Given the description of an element on the screen output the (x, y) to click on. 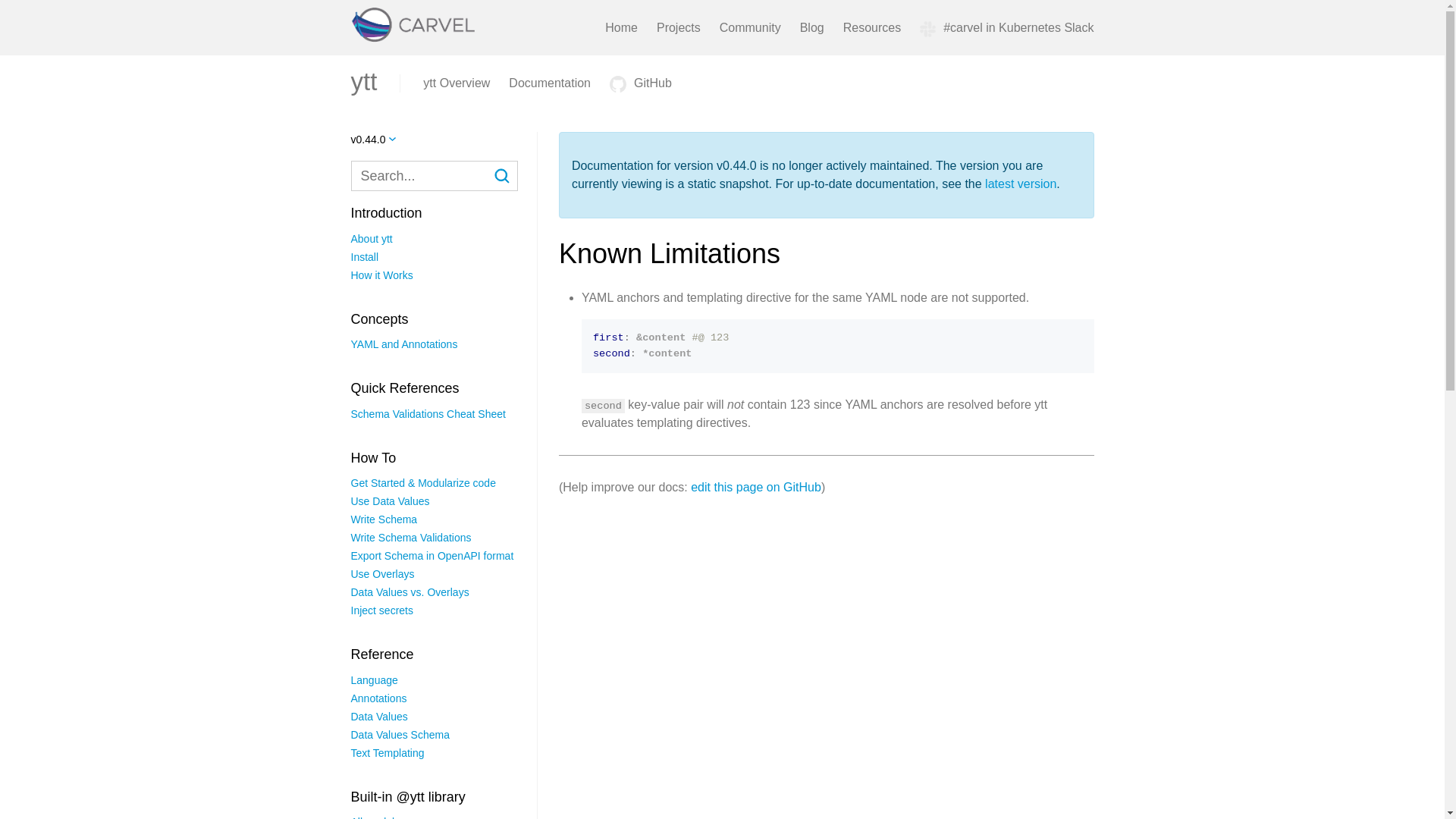
v0.44.0 (373, 139)
Resources (872, 27)
Projects (678, 27)
Documentation (549, 82)
GitHub (640, 82)
ytt Overview (456, 82)
ytt (363, 81)
Home (621, 27)
Blog (811, 27)
Community (749, 27)
